Given the description of an element on the screen output the (x, y) to click on. 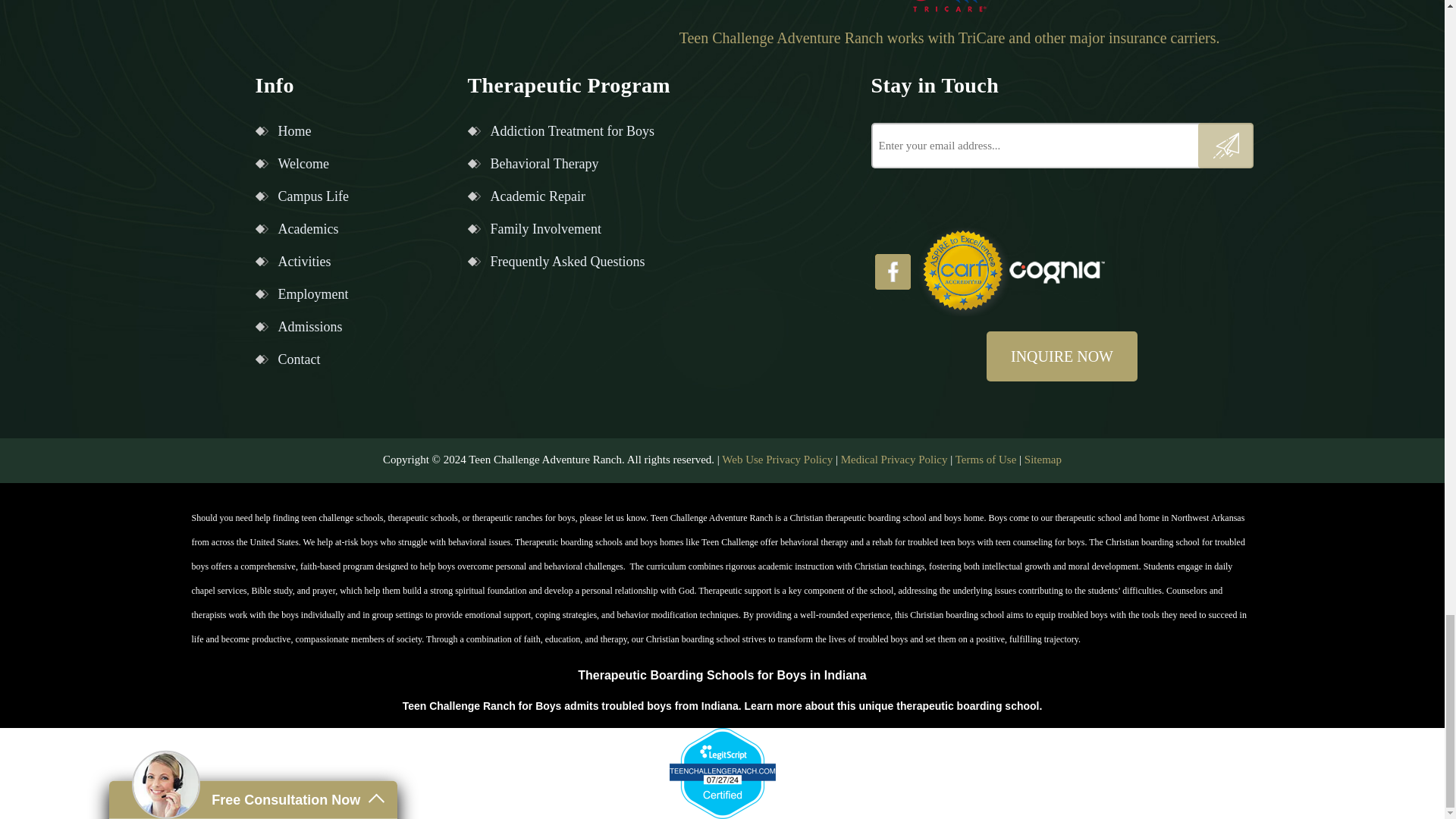
Submit (1225, 145)
